Given the description of an element on the screen output the (x, y) to click on. 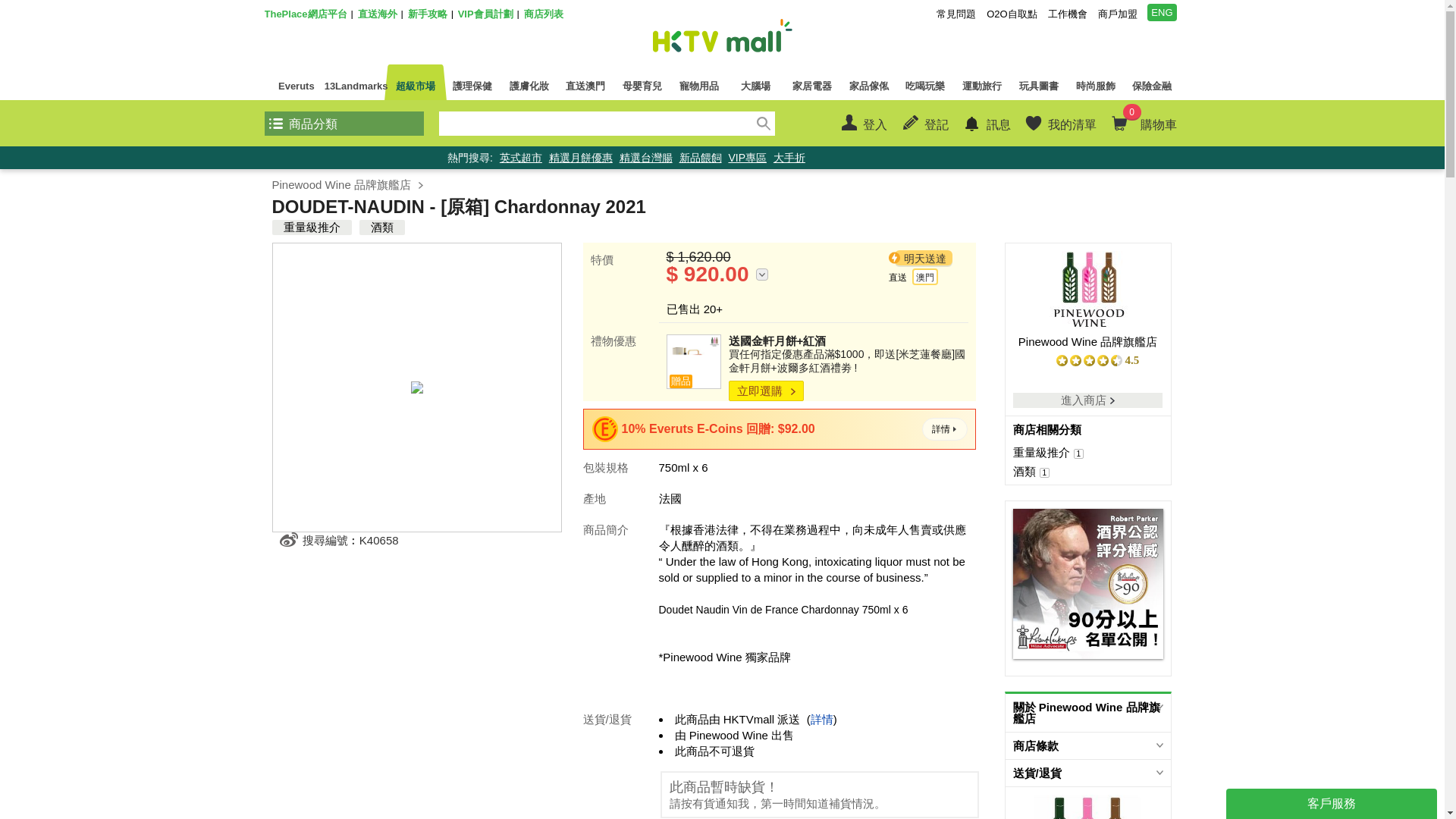
Everuts (295, 81)
13Landmarks (355, 81)
ENG (1161, 12)
